Given the description of an element on the screen output the (x, y) to click on. 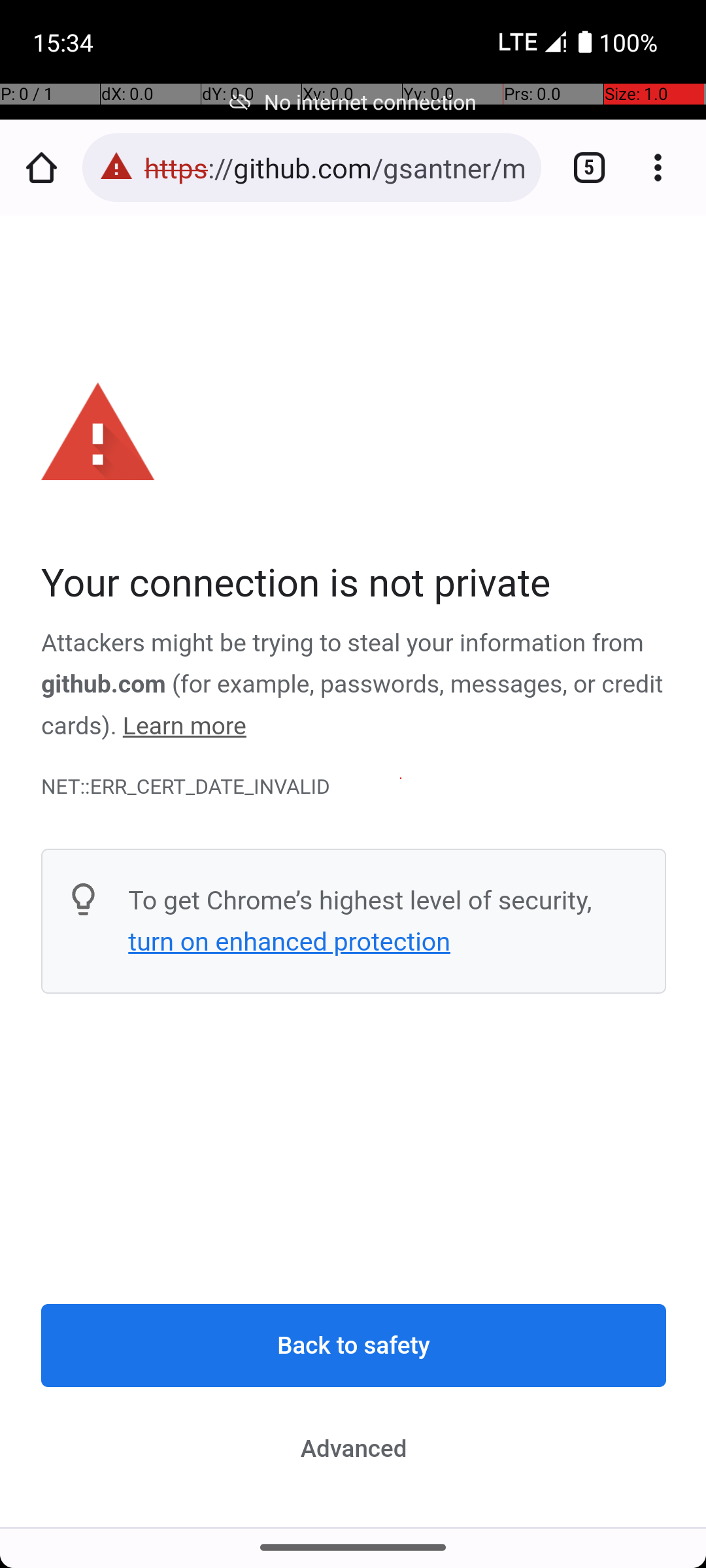
https://github.com/gsantner/markor/issues/new/choose Element type: android.widget.EditText (335, 167)
Your connection is not private Element type: android.widget.TextView (354, 583)
Attackers might be trying to steal your information from  Element type: android.widget.TextView (343, 643)
github.com Element type: android.widget.TextView (103, 684)
 (for example, passwords, messages, or credit cards).  Element type: android.widget.TextView (352, 705)
NET::ERR_CERT_DATE_INVALID Element type: android.widget.Button (354, 786)
To get Chrome’s highest level of security,  Element type: android.widget.TextView (359, 899)
turn on enhanced protection Element type: android.view.View (288, 941)
